Given the description of an element on the screen output the (x, y) to click on. 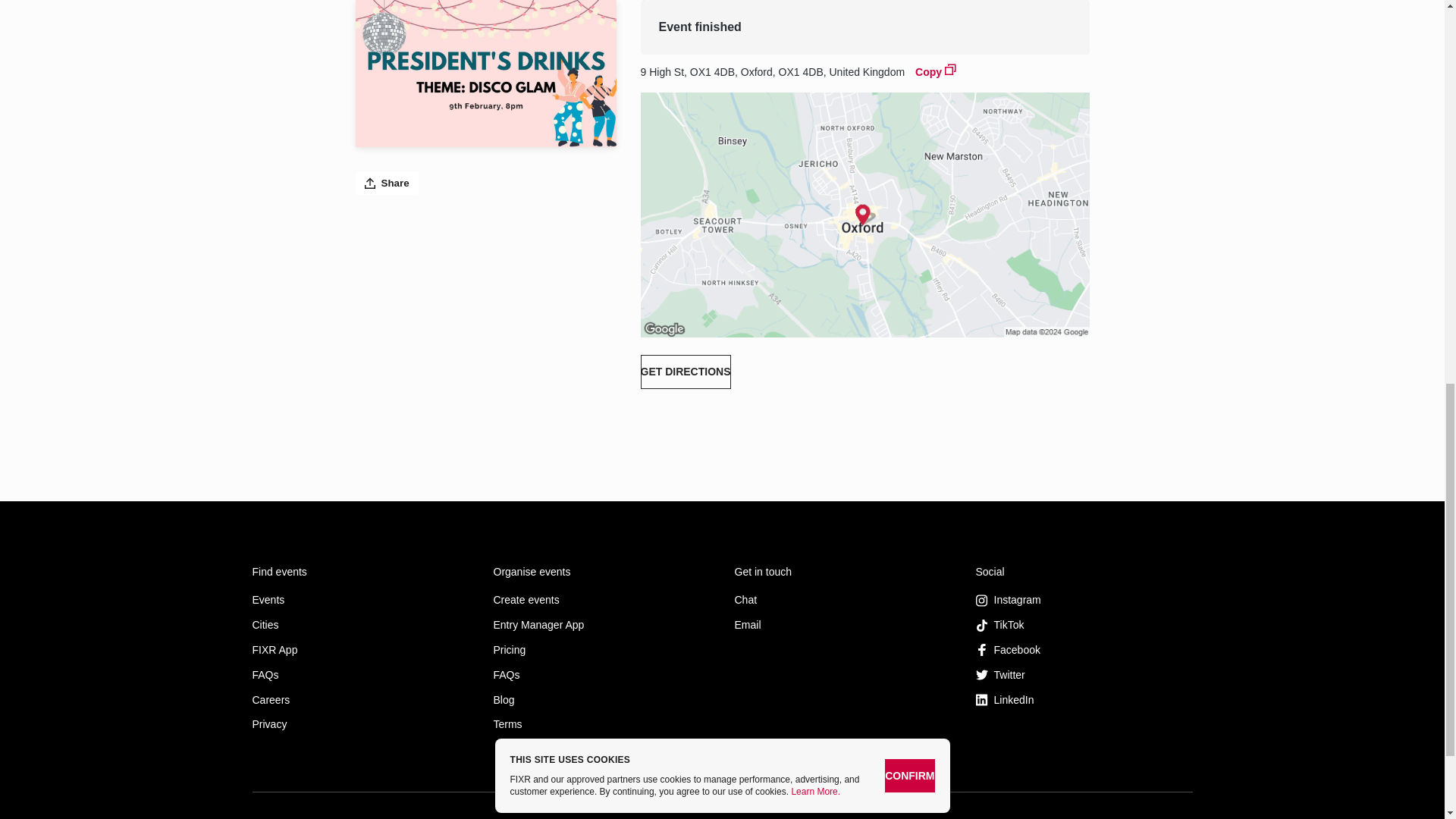
Facebook (1083, 649)
FAQs (359, 675)
Events (359, 599)
FIXR App (359, 649)
Chat (841, 599)
Instagram (1083, 599)
FAQs (601, 675)
Email (841, 625)
Twitter (1083, 675)
Entry Manager App (601, 625)
Blog (601, 698)
Create events (601, 599)
Cities (359, 625)
Privacy (359, 724)
LinkedIn (1083, 698)
